Given the description of an element on the screen output the (x, y) to click on. 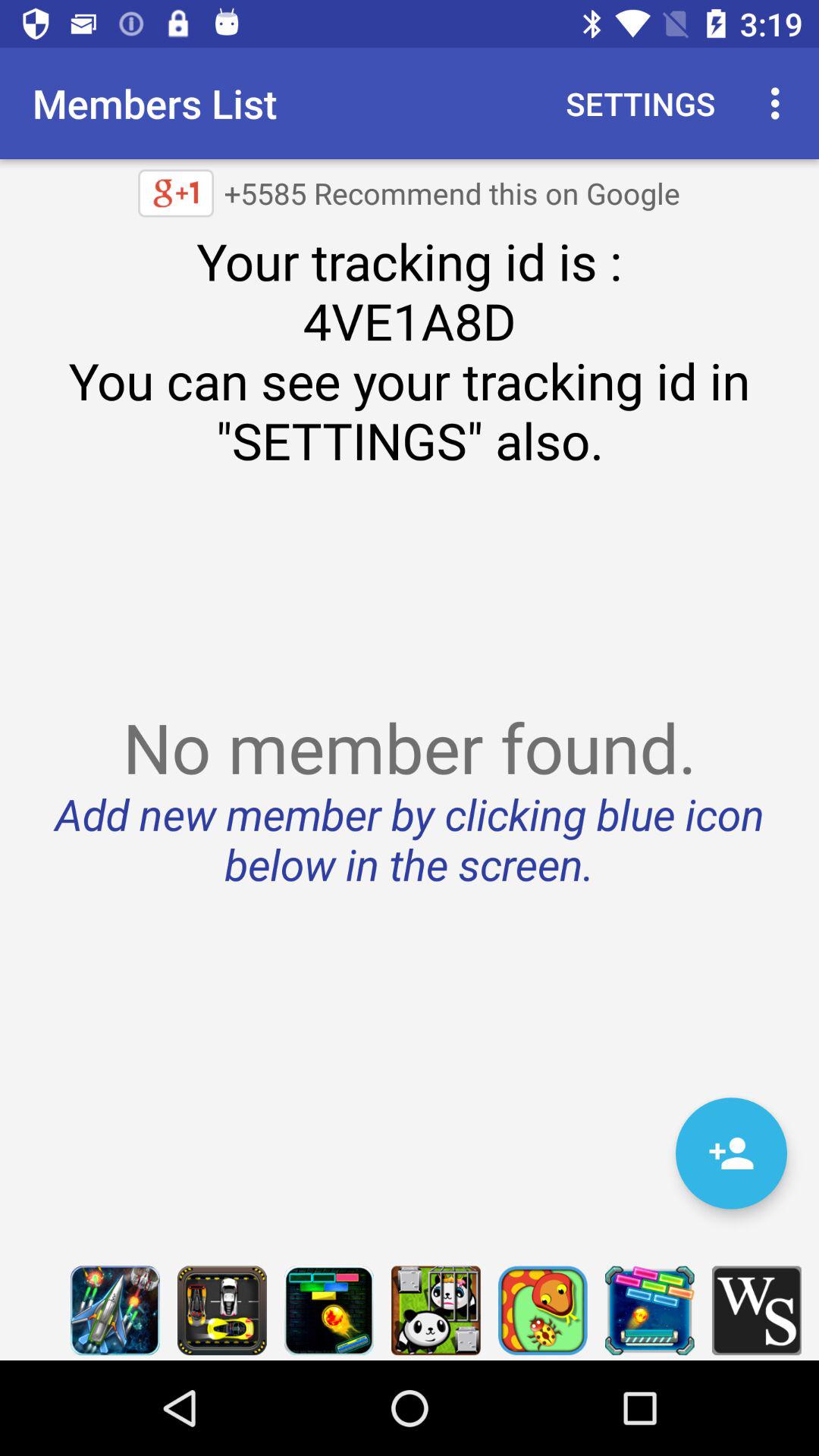
launch item next to the settings (779, 103)
